Given the description of an element on the screen output the (x, y) to click on. 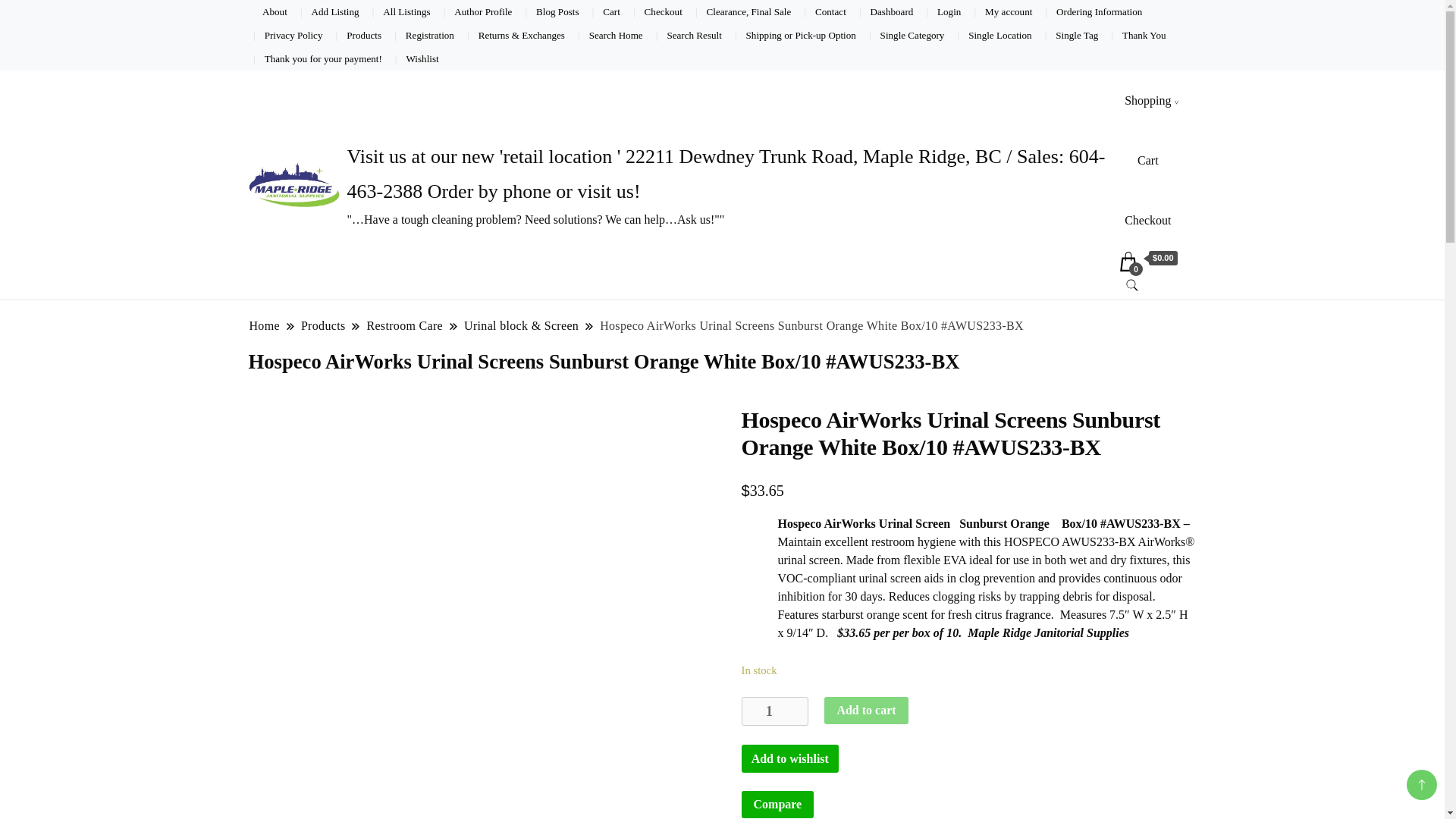
Registration (430, 34)
Shipping or Pick-up Option (800, 34)
Thank You (1144, 34)
Clearance, Final Sale (749, 11)
All Listings (405, 11)
Thank you for your payment! (322, 58)
Search Home (616, 34)
Add Listing (335, 11)
Blog Posts (556, 11)
Ordering Information (1099, 11)
